Given the description of an element on the screen output the (x, y) to click on. 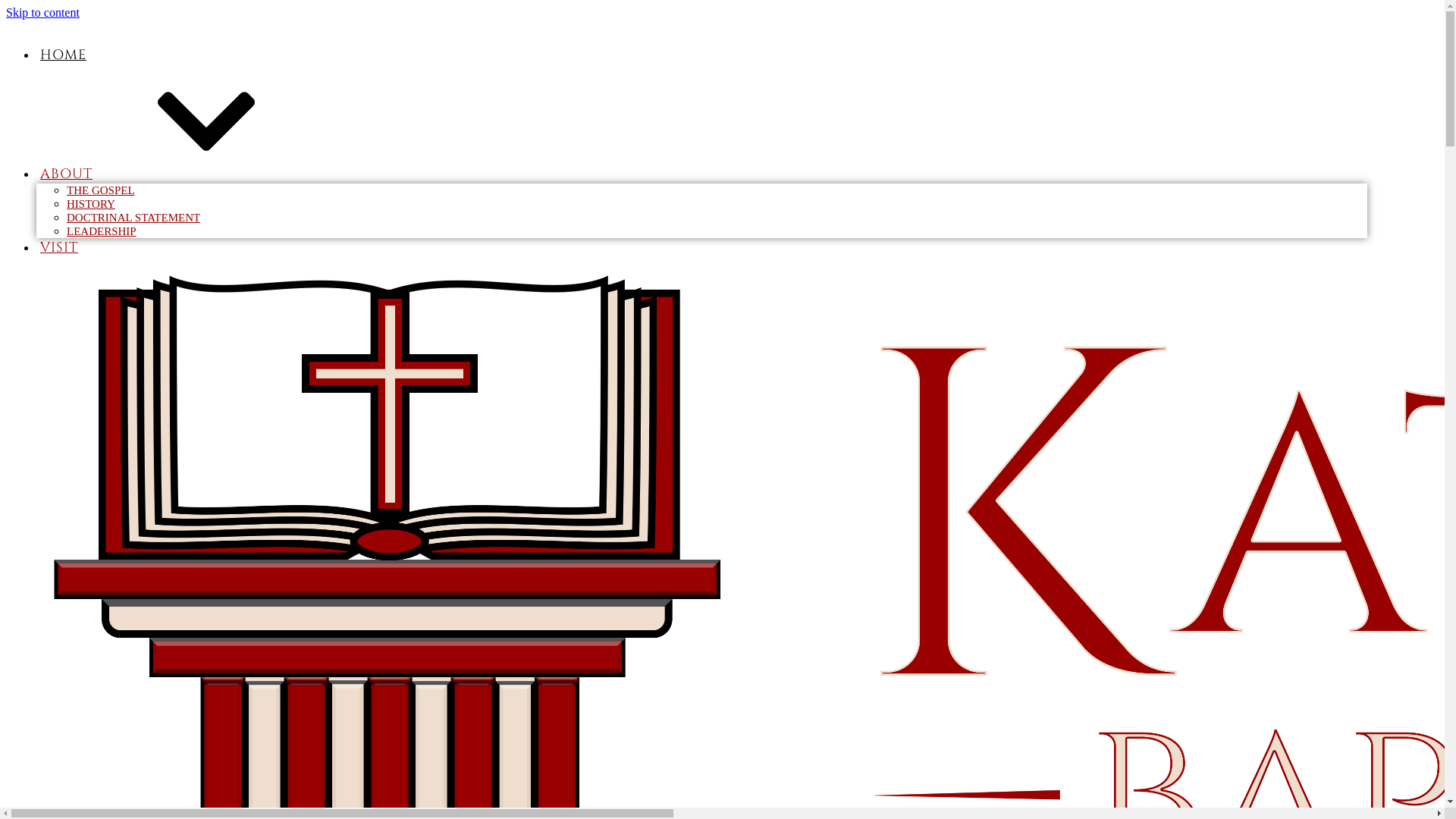
HISTORY Element type: text (90, 203)
VISIT Element type: text (58, 248)
DOCTRINAL STATEMENT Element type: text (133, 217)
HOME Element type: text (63, 55)
LEADERSHIP Element type: text (101, 231)
ABOUT Element type: text (179, 174)
THE GOSPEL Element type: text (100, 190)
Skip to content Element type: text (42, 12)
